Given the description of an element on the screen output the (x, y) to click on. 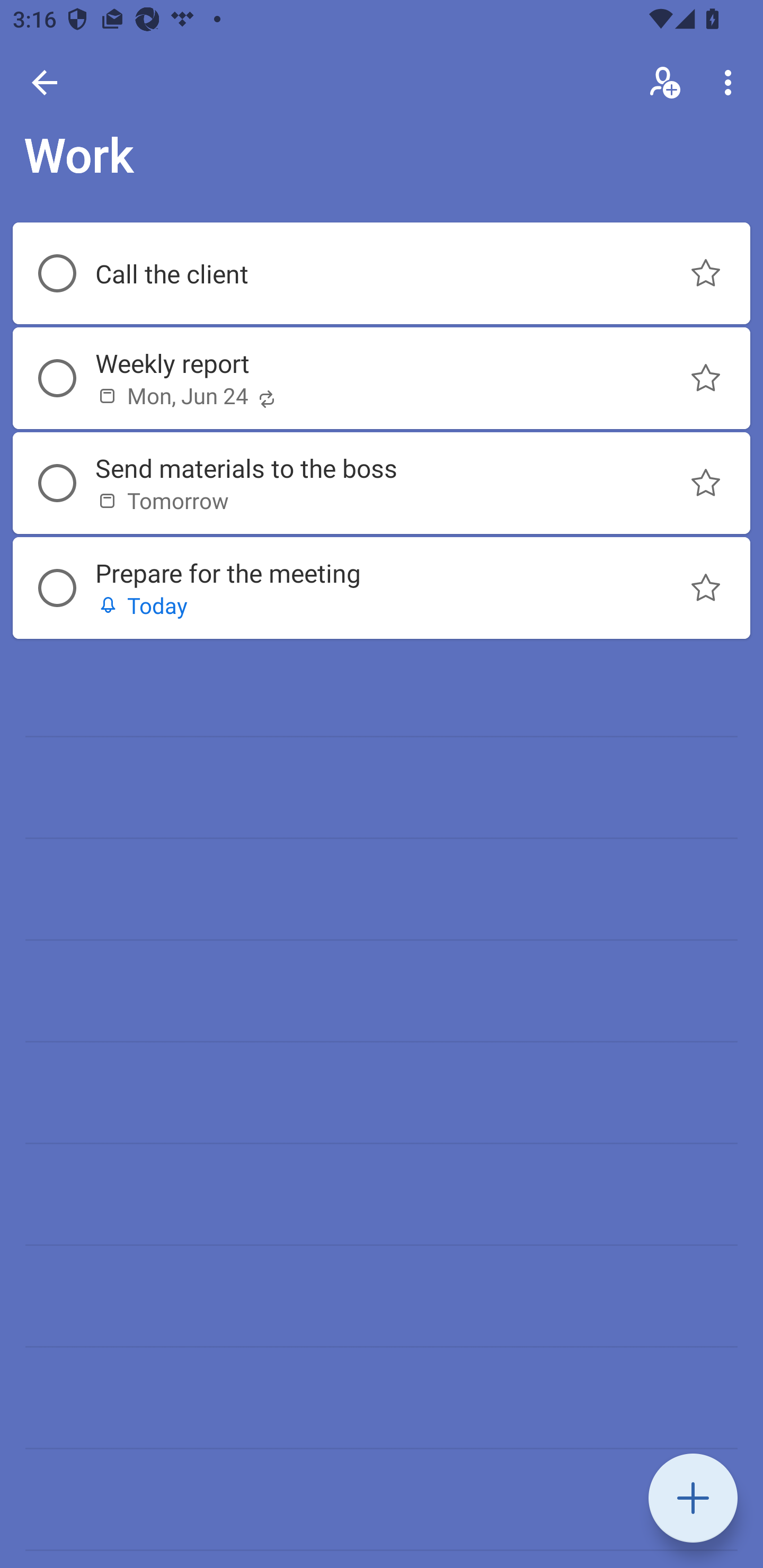
Back (44, 82)
